Given the description of an element on the screen output the (x, y) to click on. 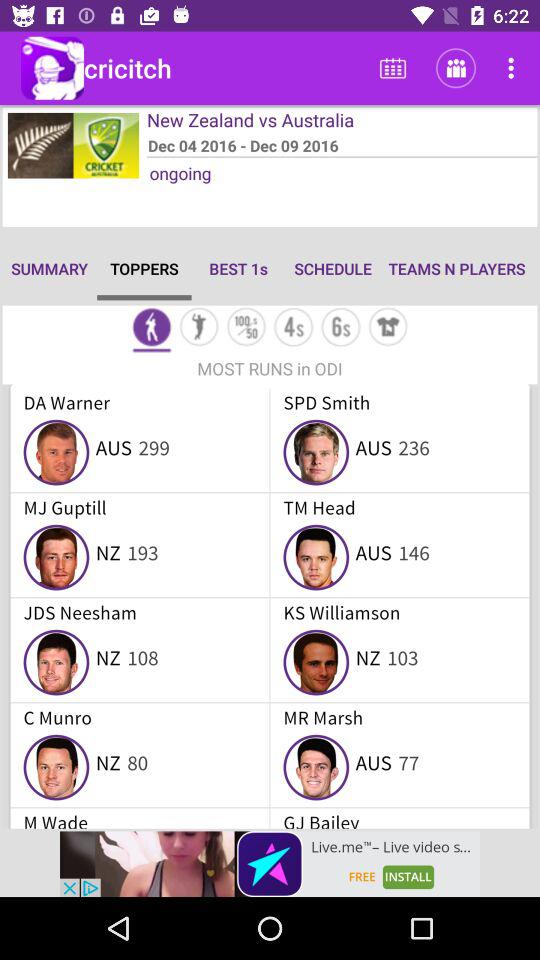
4s button (293, 328)
